Given the description of an element on the screen output the (x, y) to click on. 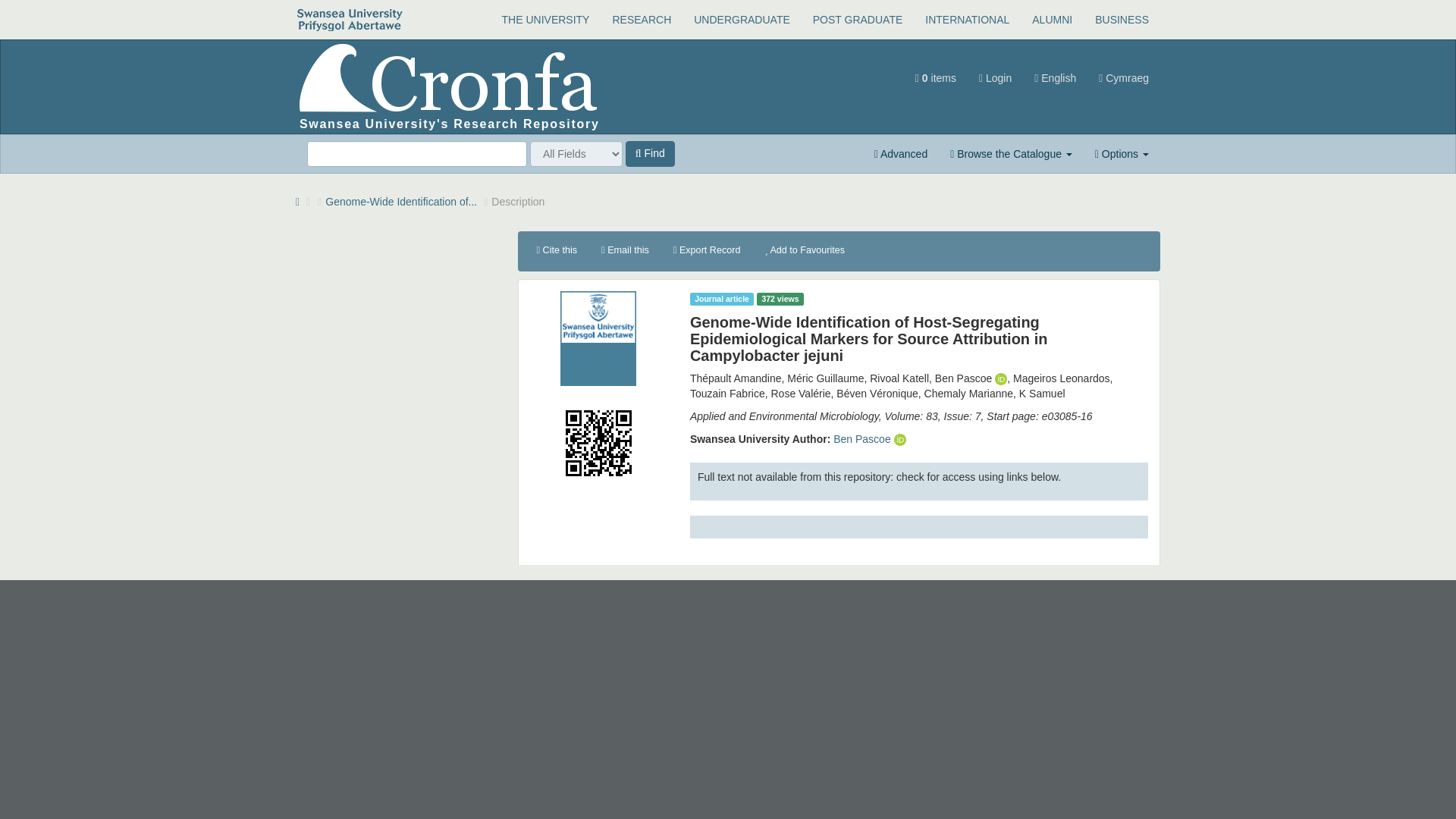
UNDERGRADUATE (742, 19)
THE UNIVERSITY (545, 19)
Cymraeg (1123, 77)
BUSINESS (1121, 19)
English (1055, 77)
Skip to content (330, 47)
Skip to content (34, 46)
RESEARCH (640, 19)
Advanced (901, 153)
ALUMNI (1051, 19)
